Given the description of an element on the screen output the (x, y) to click on. 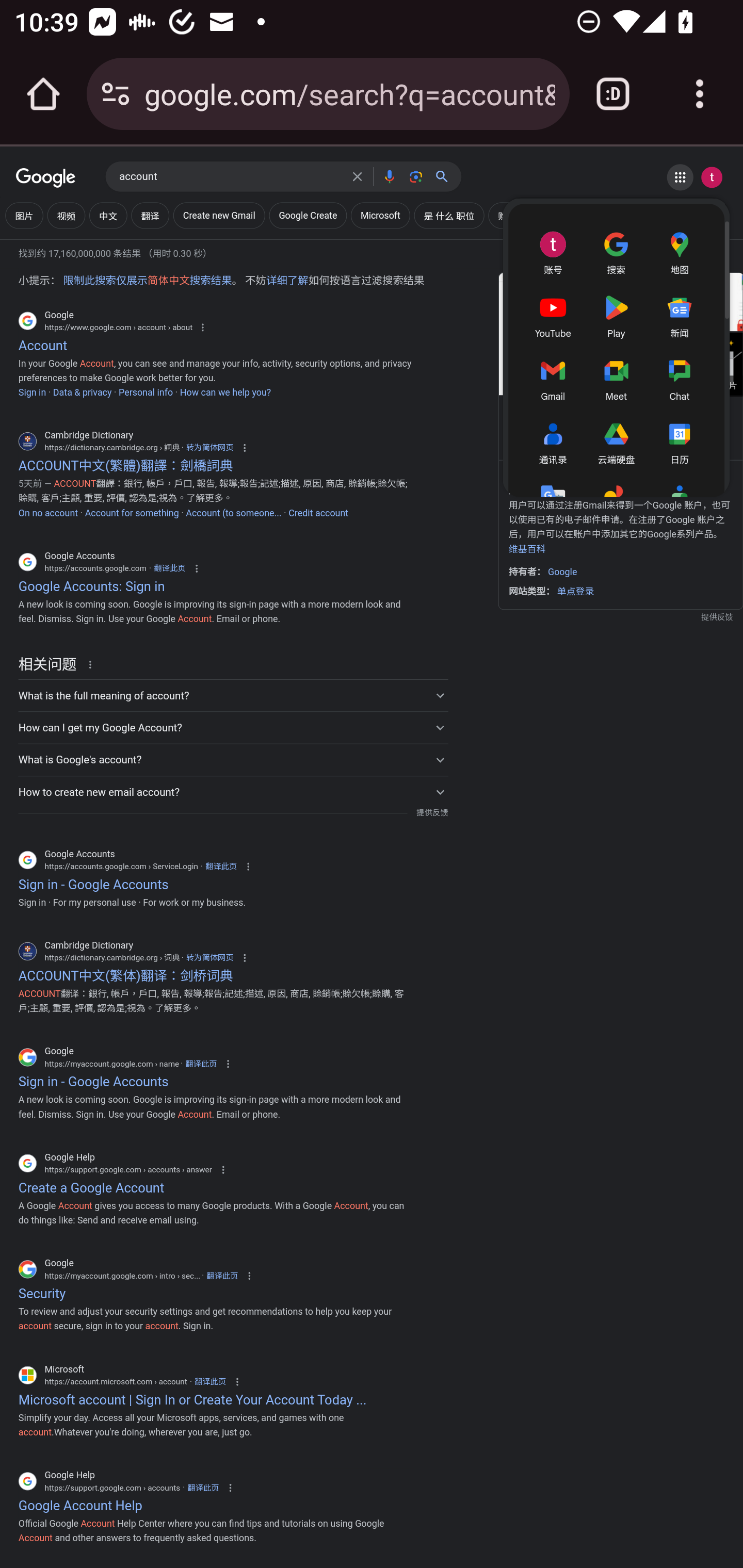
Open the home page (43, 93)
Connection is secure (115, 93)
Switch or close tabs (612, 93)
Customize and control Google Chrome (699, 93)
清除 (357, 176)
按语音搜索 (388, 176)
按图搜索 (415, 176)
搜索 (445, 176)
Google 应用 (679, 176)
Google 账号： test appium (testappium002@gmail.com) (711, 176)
Google (45, 178)
account (229, 177)
图片 (24, 215)
视频 (65, 215)
添加“中文” 中文 (107, 215)
添加“翻译” 翻译 (149, 215)
添加“Create new Gmail” Create new Gmail (218, 215)
添加“Google Create” Google Create (307, 215)
添加“Microsoft” Microsoft (380, 215)
添加“是 什么 职位” 是 什么 职位 (449, 215)
账号 (552, 250)
搜索 (615, 250)
地图 (678, 250)
限制此搜索仅展示简体中文搜索结果 限制此搜索仅展示 简体中文 搜索结果 (146, 280)
详细了解 (287, 280)
YouTube (552, 313)
Play (615, 313)
新闻 (678, 313)
Gmail (552, 377)
Meet (615, 377)
Chat (678, 377)
Sign in (31, 392)
Data & privacy (82, 392)
Personal info (145, 392)
How can we help you? (225, 392)
通讯录 (552, 440)
云端硬盘 (615, 440)
日历 (678, 440)
转为简体网页 (209, 448)
On no account (47, 512)
Account for something (131, 512)
Account (to someone... (233, 512)
Credit account (318, 512)
购物 (552, 567)
翻译此页 (169, 567)
关于这条结果的详细信息 (93, 663)
What is the full meaning of account? (232, 694)
How can I get my Google Account? (232, 727)
What is Google's account? (232, 759)
How to create new email account? (232, 790)
提供反馈 (432, 812)
翻译此页 (221, 866)
转为简体网页 (209, 957)
翻译此页 (200, 1062)
翻译此页 (221, 1276)
翻译此页 (209, 1381)
翻译此页 (202, 1487)
